Given the description of an element on the screen output the (x, y) to click on. 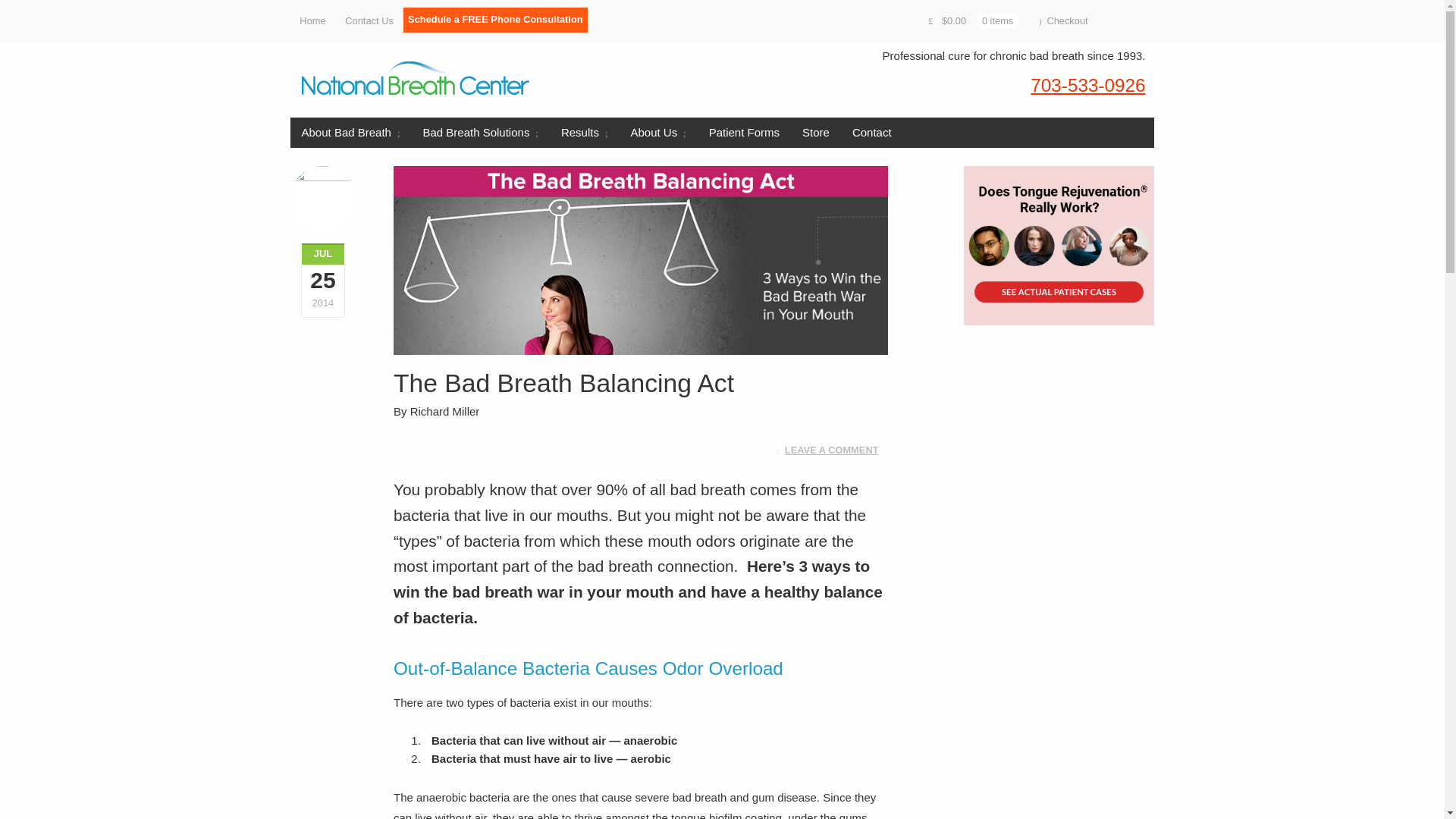
Contact (871, 132)
About Bad Breath (350, 132)
Contact Us (368, 21)
Bad Breath Solutions (479, 132)
About Us (657, 132)
Schedule a FREE Phone Consultation (495, 20)
Results (585, 132)
Checkout (1063, 21)
Store (815, 132)
View your shopping cart (973, 21)
The Bad Breath Balancing Act (640, 260)
703-533-0926 (1087, 85)
Home (312, 21)
Patient Forms (743, 132)
See Actual Tongue Rejuvenation Patient Case Results (1058, 245)
